Given the description of an element on the screen output the (x, y) to click on. 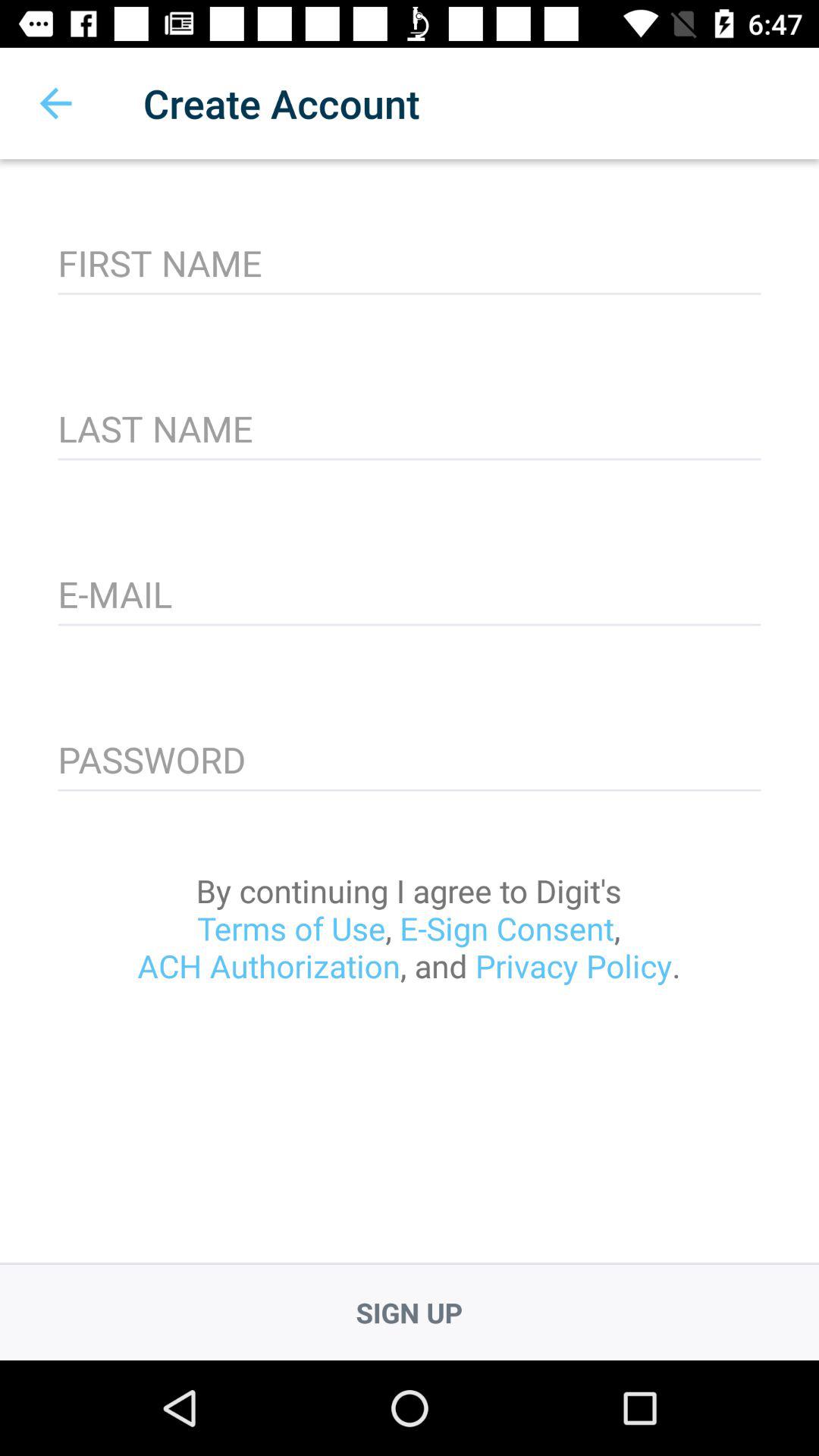
select item above the by continuing i icon (409, 762)
